Given the description of an element on the screen output the (x, y) to click on. 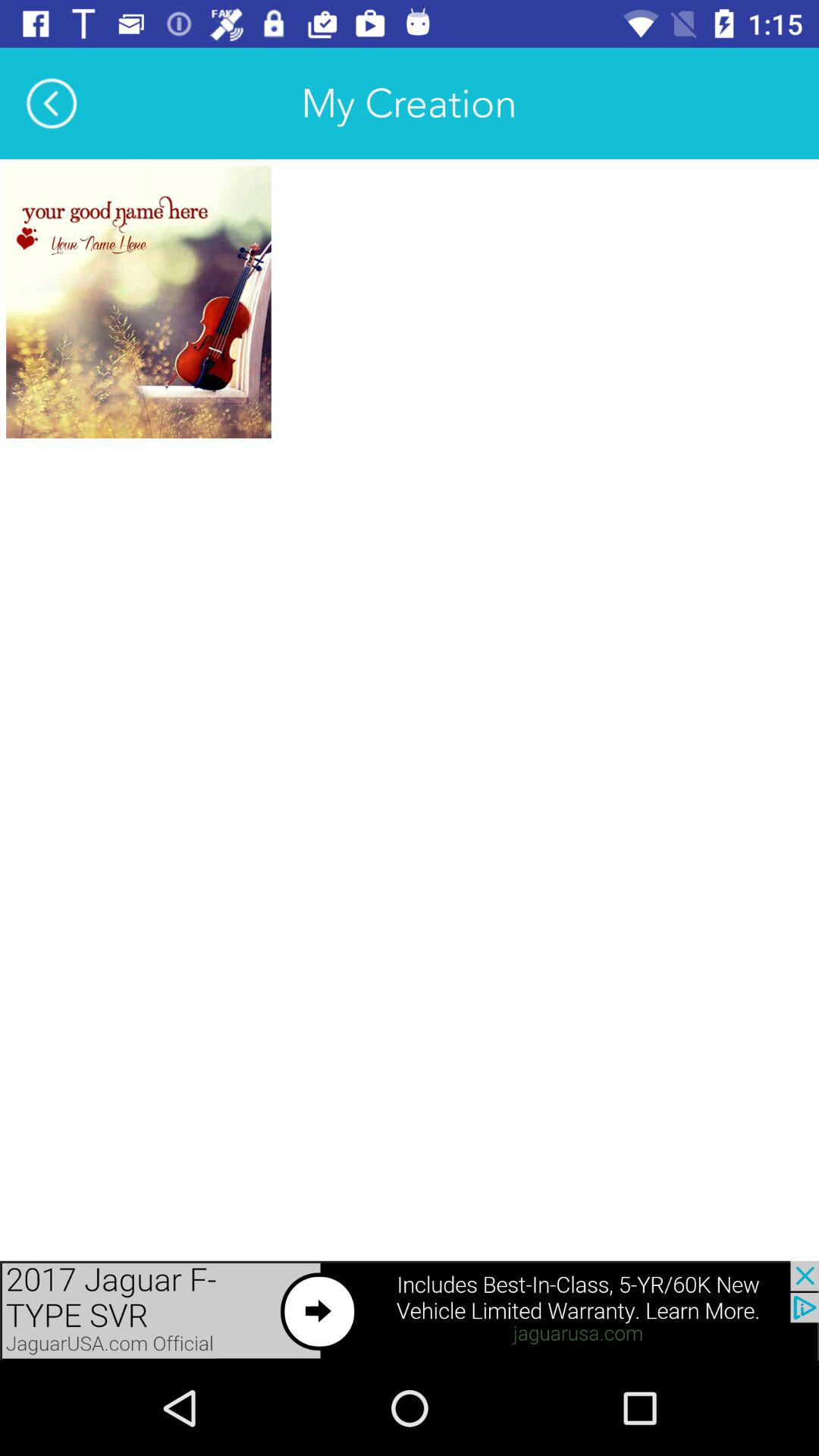
back (51, 103)
